Given the description of an element on the screen output the (x, y) to click on. 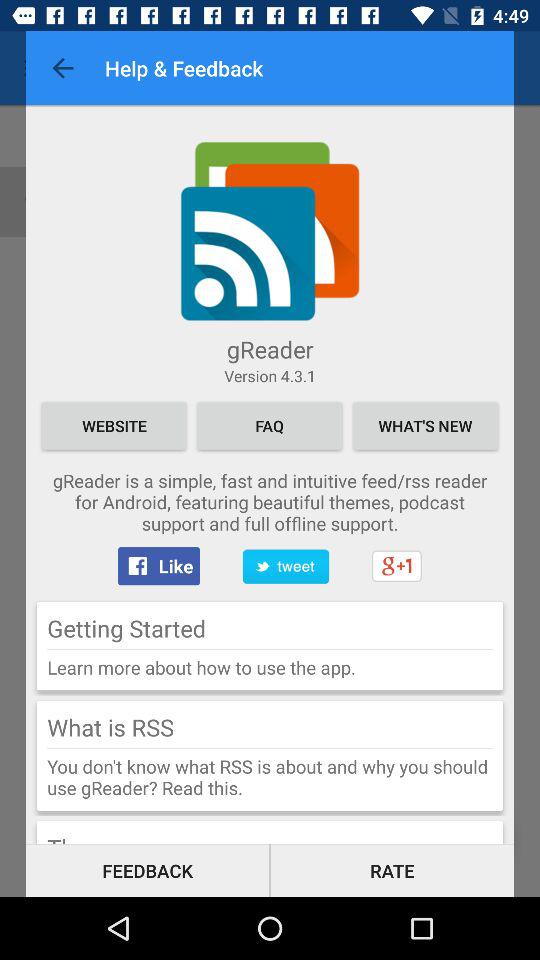
open the icon below the like icon (126, 628)
